Given the description of an element on the screen output the (x, y) to click on. 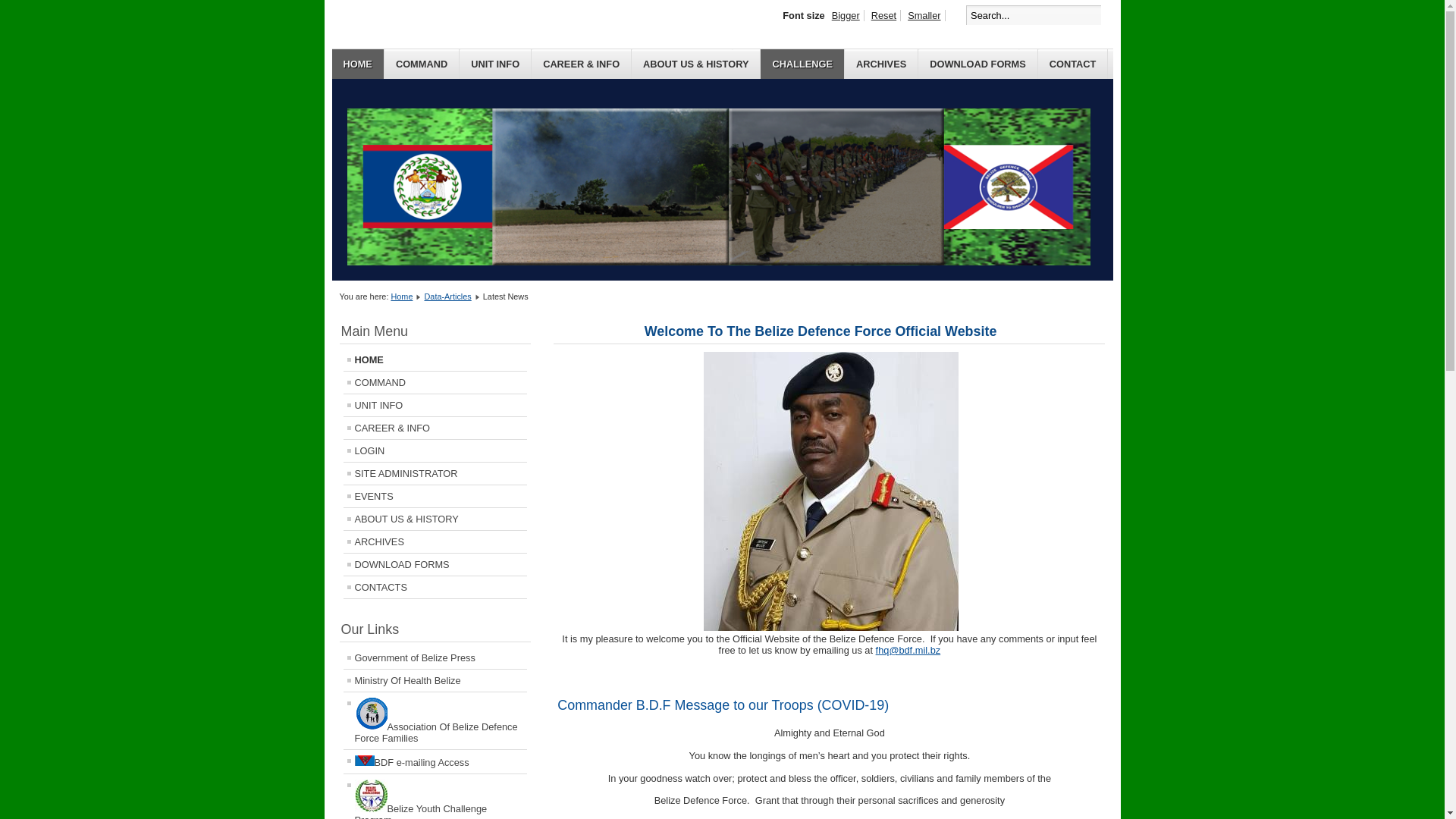
HOME Element type: text (358, 63)
UNIT INFO Element type: text (434, 405)
Bigger Element type: text (846, 15)
ARCHIVES Element type: text (881, 63)
CONTACT Element type: text (1073, 63)
Commander B.D.F Message to our Troops (COVID-19) Element type: text (722, 704)
CONTACTS Element type: text (434, 587)
BDF e-mailing Access Element type: text (434, 761)
Data-Articles Element type: text (447, 296)
Home Element type: text (401, 296)
DOWNLOAD FORMS Element type: text (434, 564)
HOME Element type: text (434, 359)
Government of Belize Press Element type: text (434, 657)
EVENTS Element type: text (434, 496)
ABOUT US & HISTORY Element type: text (434, 519)
SITE ADMINISTRATOR Element type: text (434, 473)
COMMAND Element type: text (421, 63)
ABOUT US & HISTORY Element type: text (695, 63)
DOWNLOAD FORMS Element type: text (978, 63)
Reset Element type: text (883, 15)
CHALLENGE Element type: text (802, 63)
CAREER & INFO Element type: text (581, 63)
Ministry Of Health Belize Element type: text (434, 680)
CAREER & INFO Element type: text (434, 428)
Association Of Belize Defence Force Families Element type: text (434, 720)
Smaller Element type: text (923, 15)
COMMAND Element type: text (434, 382)
UNIT INFO Element type: text (495, 63)
fhq@bdf.mil.bz Element type: text (908, 649)
LOGIN Element type: text (434, 450)
ARCHIVES Element type: text (434, 541)
